Given the description of an element on the screen output the (x, y) to click on. 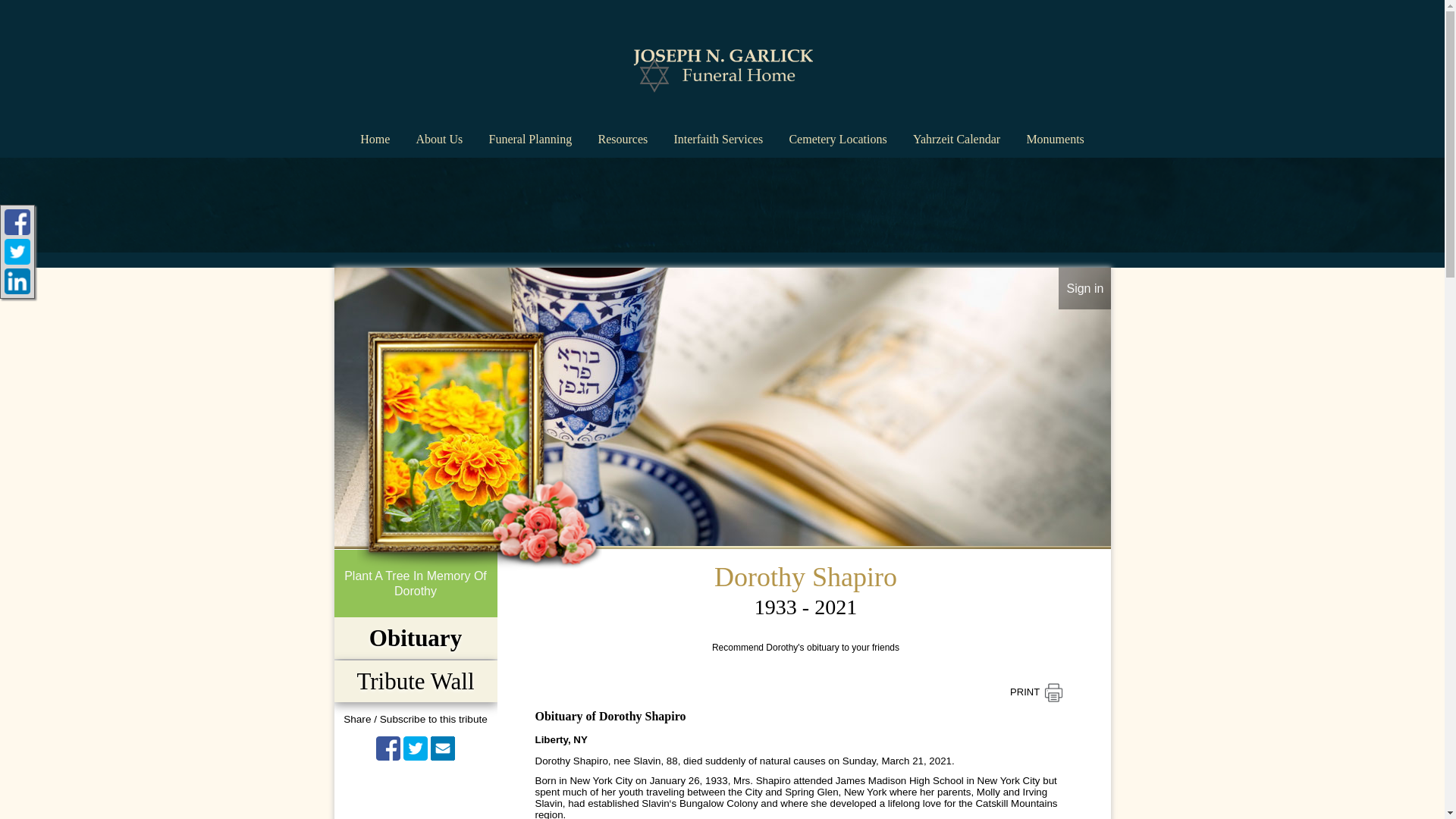
Receive Notifications (442, 748)
Funeral Planning (529, 135)
Resources (622, 135)
Twitter (415, 748)
Interfaith Services (717, 135)
Plant A Tree (414, 582)
Obituary (414, 637)
Facebook (387, 748)
Monuments (1054, 135)
Print (1035, 691)
Sign in (1084, 287)
Home (374, 135)
PRINT (1035, 691)
Plant A Tree In Memory Of Dorothy (414, 582)
About Us (438, 135)
